Given the description of an element on the screen output the (x, y) to click on. 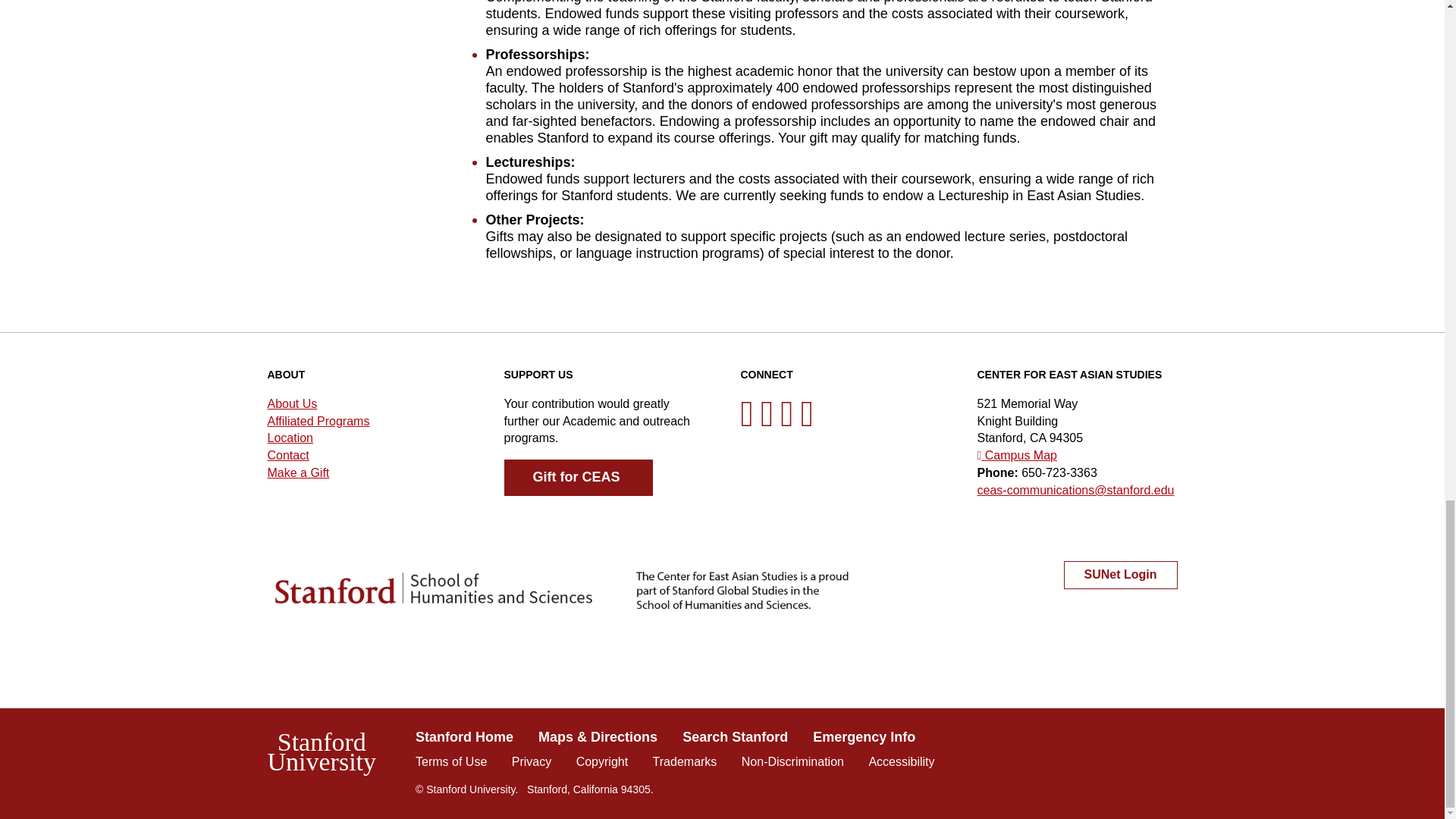
Terms of use for sites (450, 761)
Ownership and use of Stanford trademarks and images (684, 761)
Report web accessibility issues (900, 761)
Non-discrimination policy (792, 761)
Privacy and cookie policy (531, 761)
Report alleged copyright infringement (601, 761)
